Given the description of an element on the screen output the (x, y) to click on. 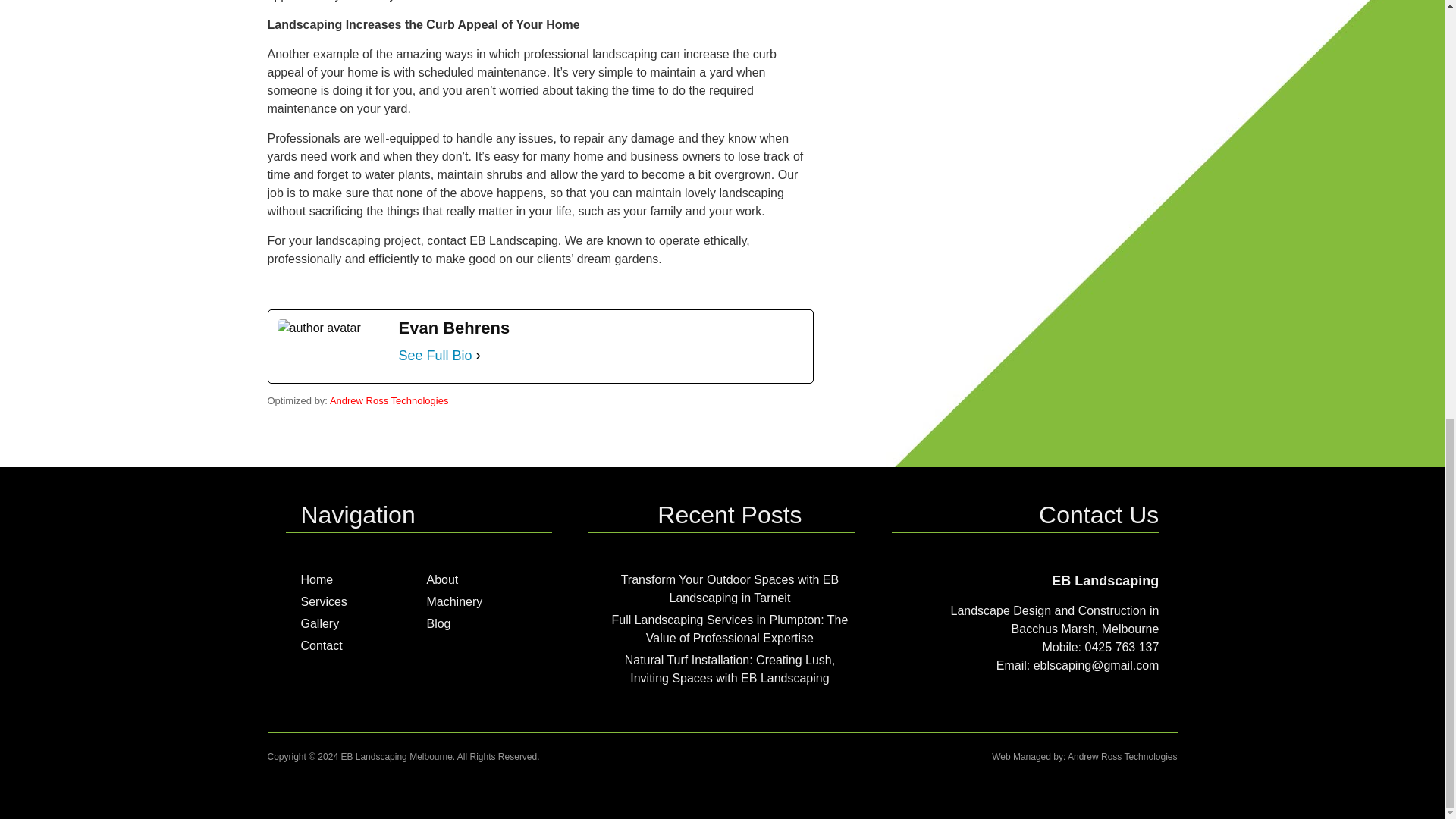
See Full Bio (434, 355)
Services (322, 601)
Andrew Ross Technologies (389, 400)
Home (316, 579)
About (442, 579)
